Given the description of an element on the screen output the (x, y) to click on. 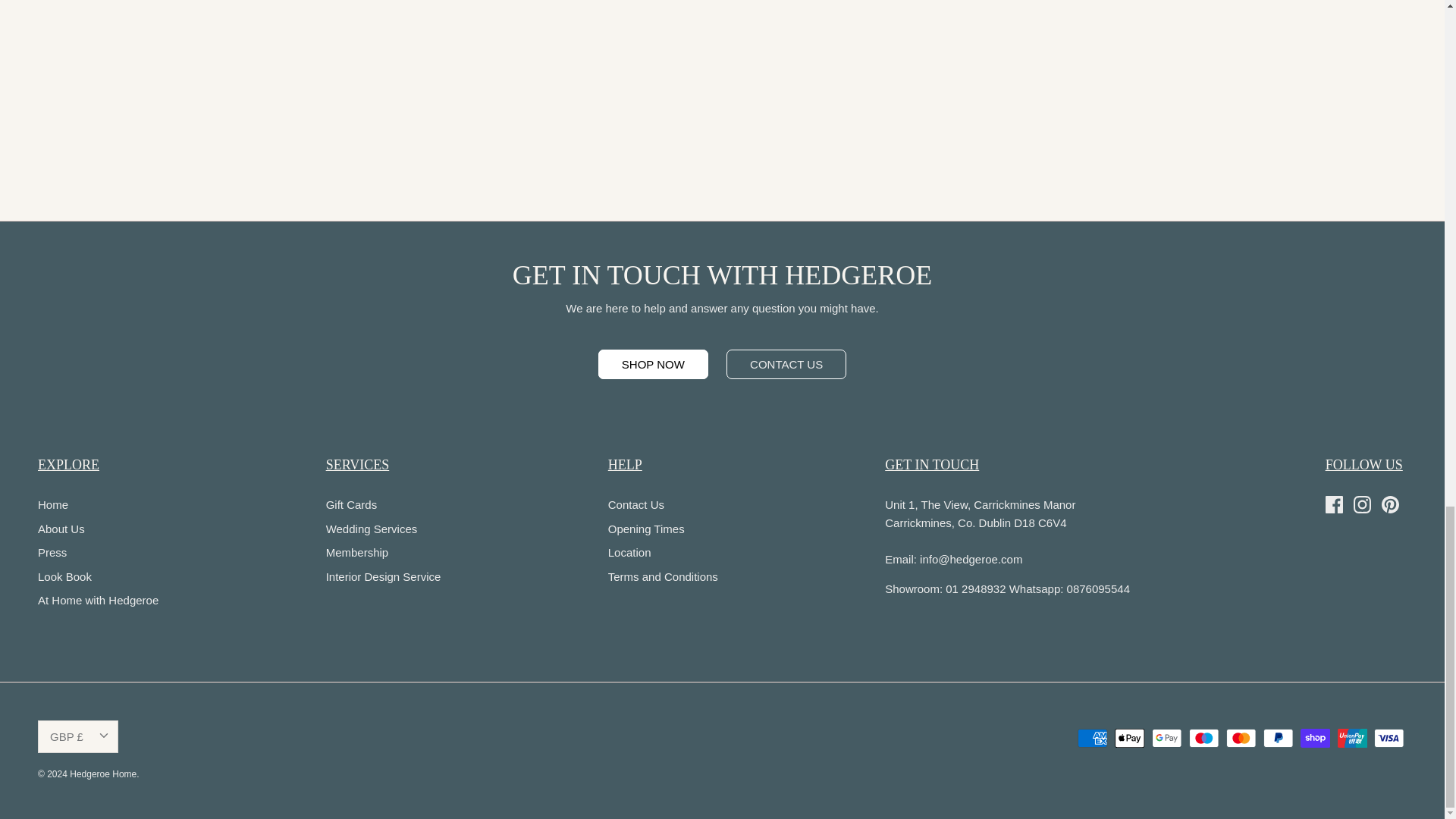
American Express (1092, 737)
Maestro (1203, 737)
Visa (1388, 737)
Mastercard (1240, 737)
Union Pay (1352, 737)
Pinterest (1390, 504)
Facebook (1333, 504)
PayPal (1277, 737)
Apple Pay (1129, 737)
Google Pay (1166, 737)
